Given the description of an element on the screen output the (x, y) to click on. 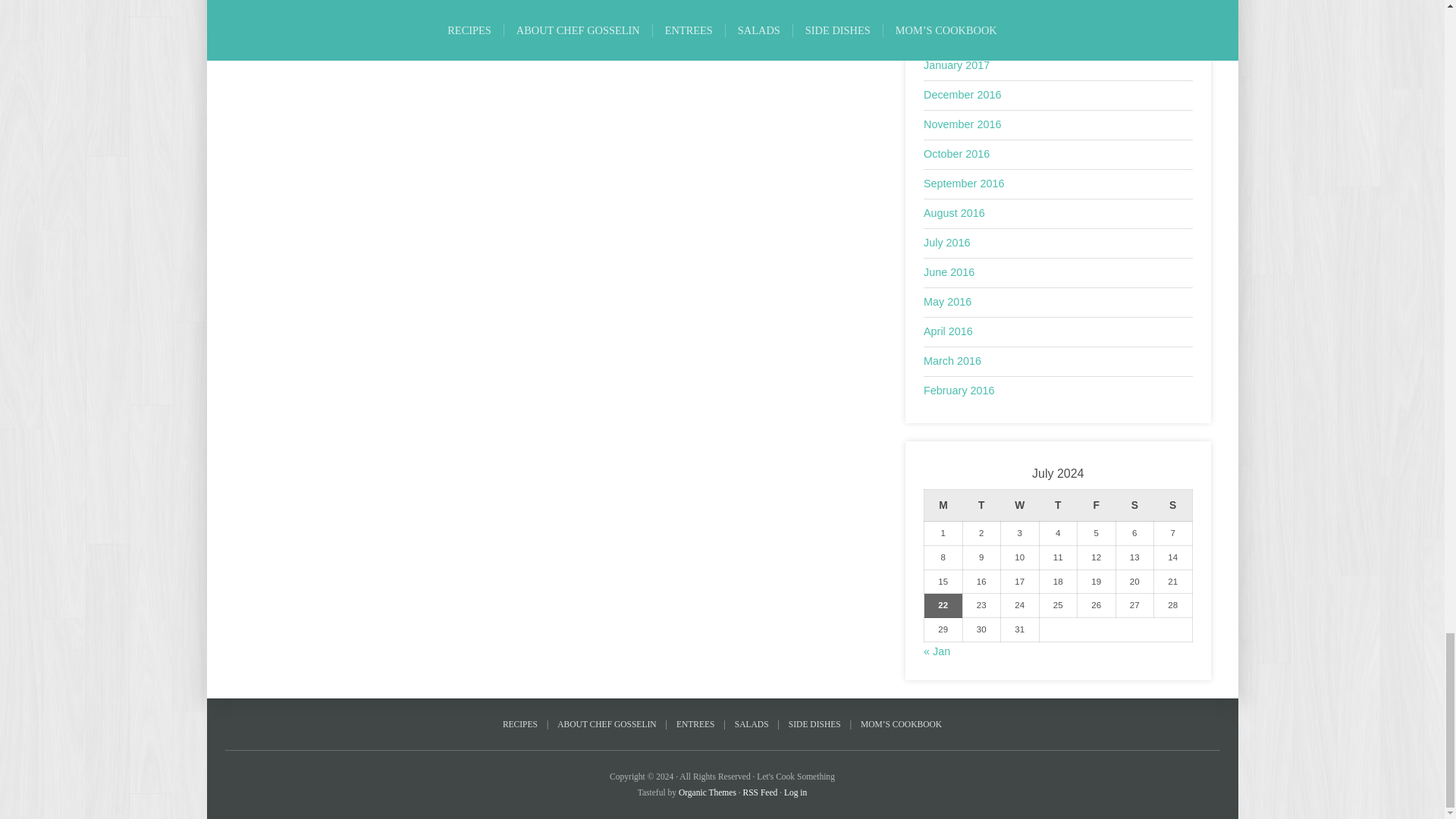
Saturday (1134, 505)
Wednesday (1020, 505)
Thursday (1058, 505)
Sunday (1173, 505)
Friday (1096, 505)
Monday (942, 505)
Tuesday (981, 505)
